Given the description of an element on the screen output the (x, y) to click on. 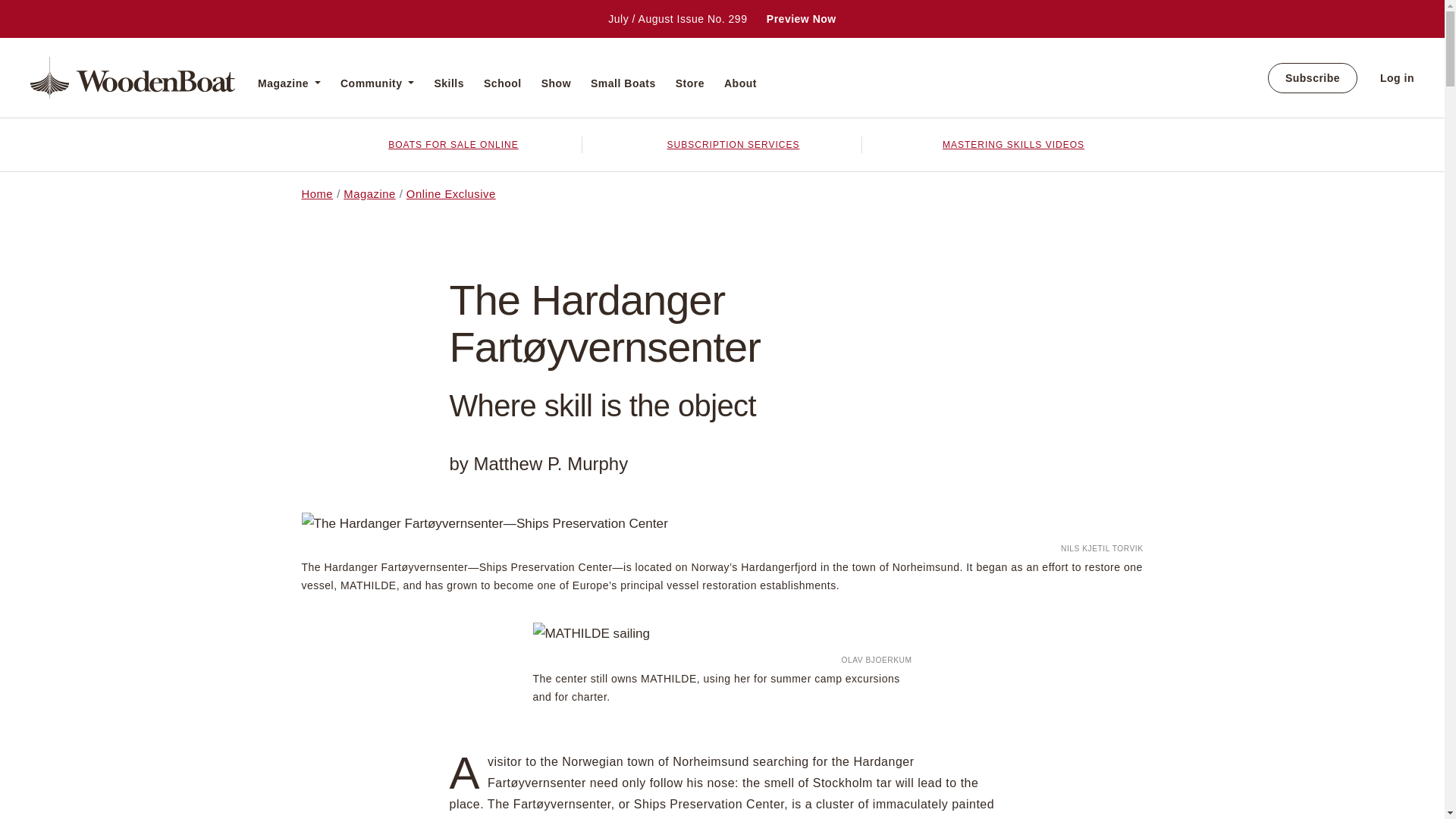
About (740, 83)
Preview Now (801, 19)
Show (555, 83)
Magazine (288, 83)
Skills (448, 83)
Log in (1396, 77)
Small Boats (623, 83)
Community (376, 83)
Subscribe (1312, 78)
School (502, 83)
